Given the description of an element on the screen output the (x, y) to click on. 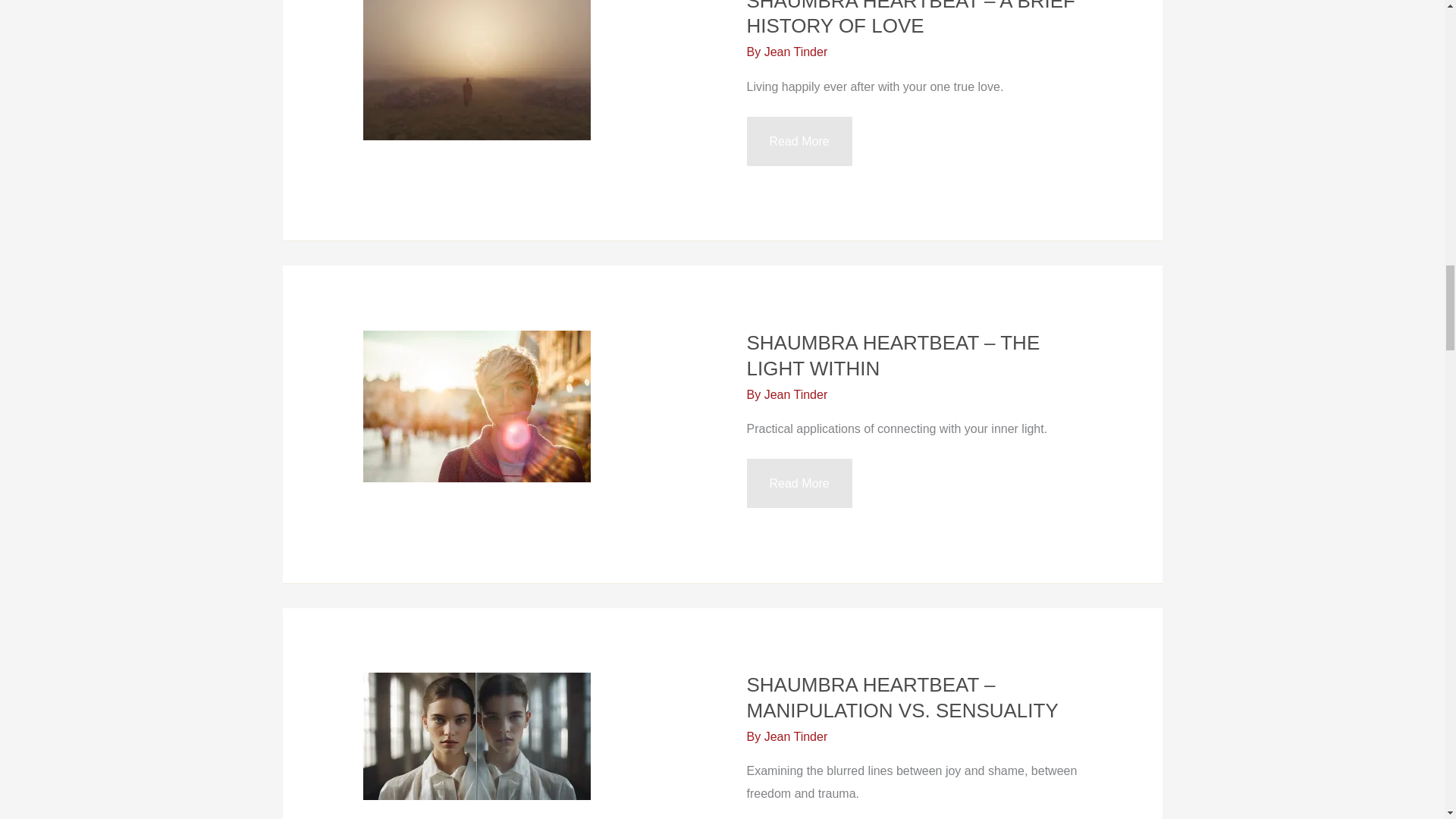
View all posts by Jean Tinder (796, 736)
View all posts by Jean Tinder (796, 51)
View all posts by Jean Tinder (796, 394)
